Given the description of an element on the screen output the (x, y) to click on. 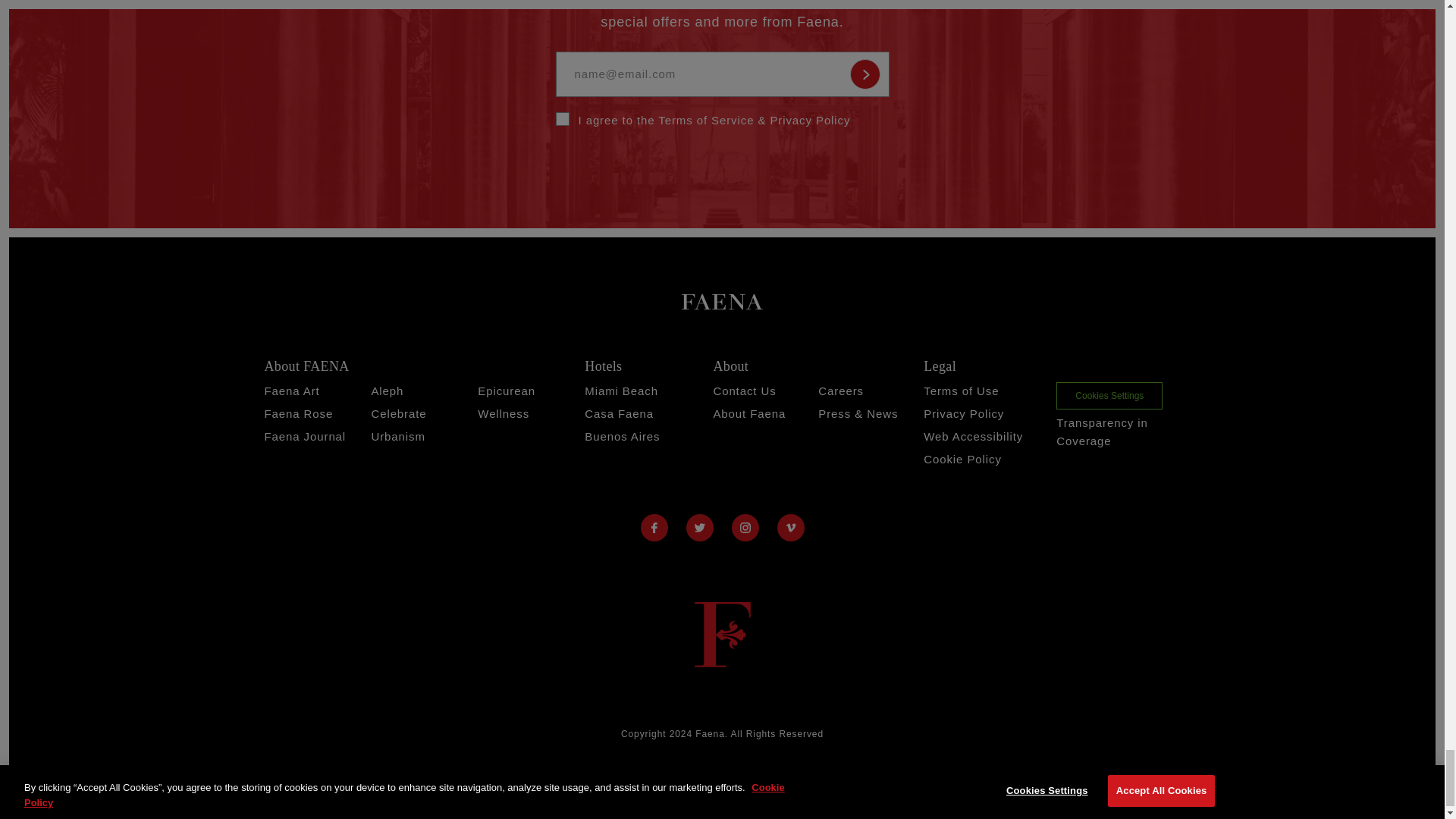
Submit (863, 73)
1 (561, 119)
